Given the description of an element on the screen output the (x, y) to click on. 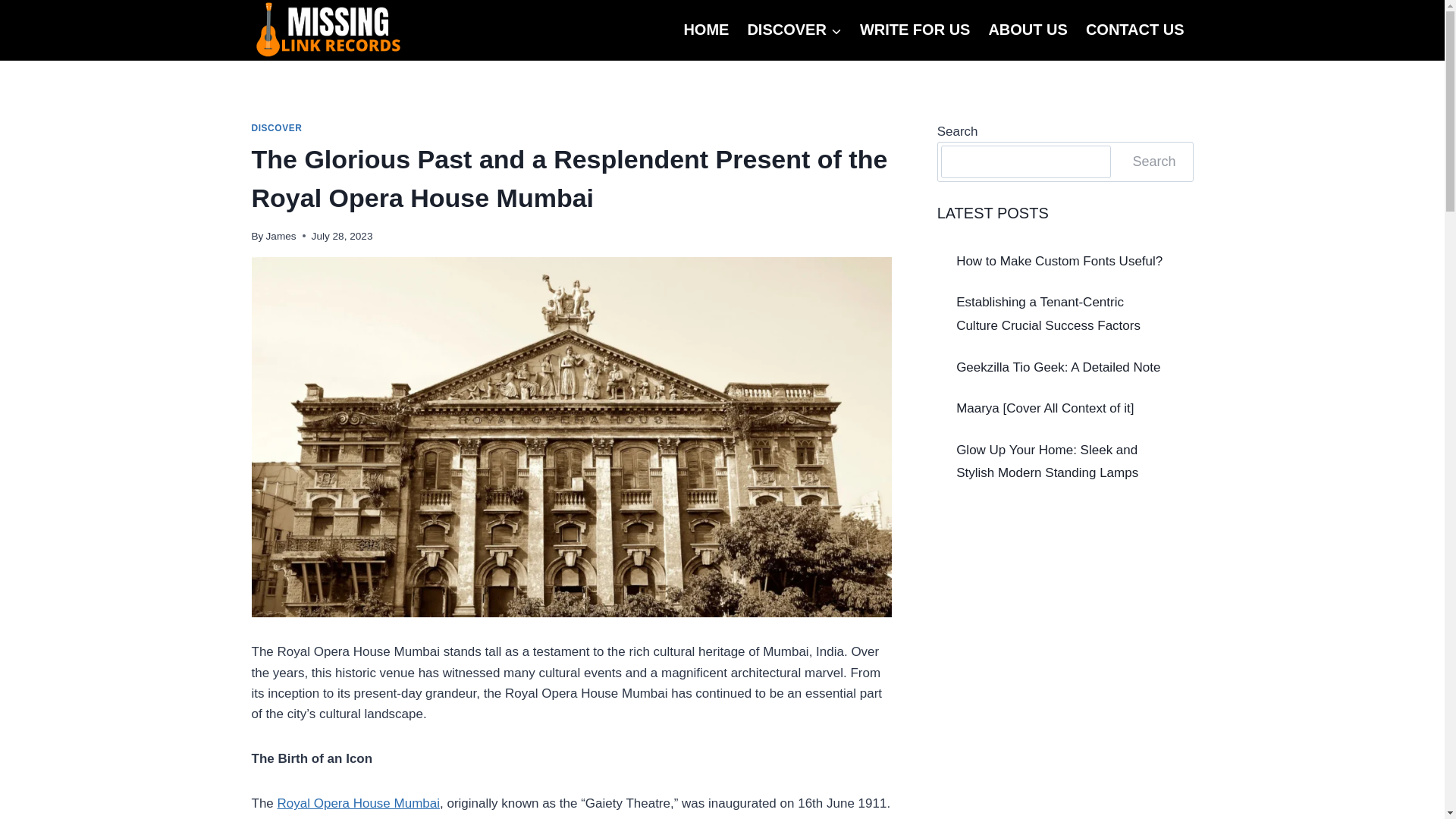
WRITE FOR US (914, 30)
HOME (706, 30)
DISCOVER (794, 30)
DISCOVER (276, 127)
CONTACT US (1135, 30)
ABOUT US (1026, 30)
Royal Opera House Mumbai (358, 803)
James (281, 235)
